Given the description of an element on the screen output the (x, y) to click on. 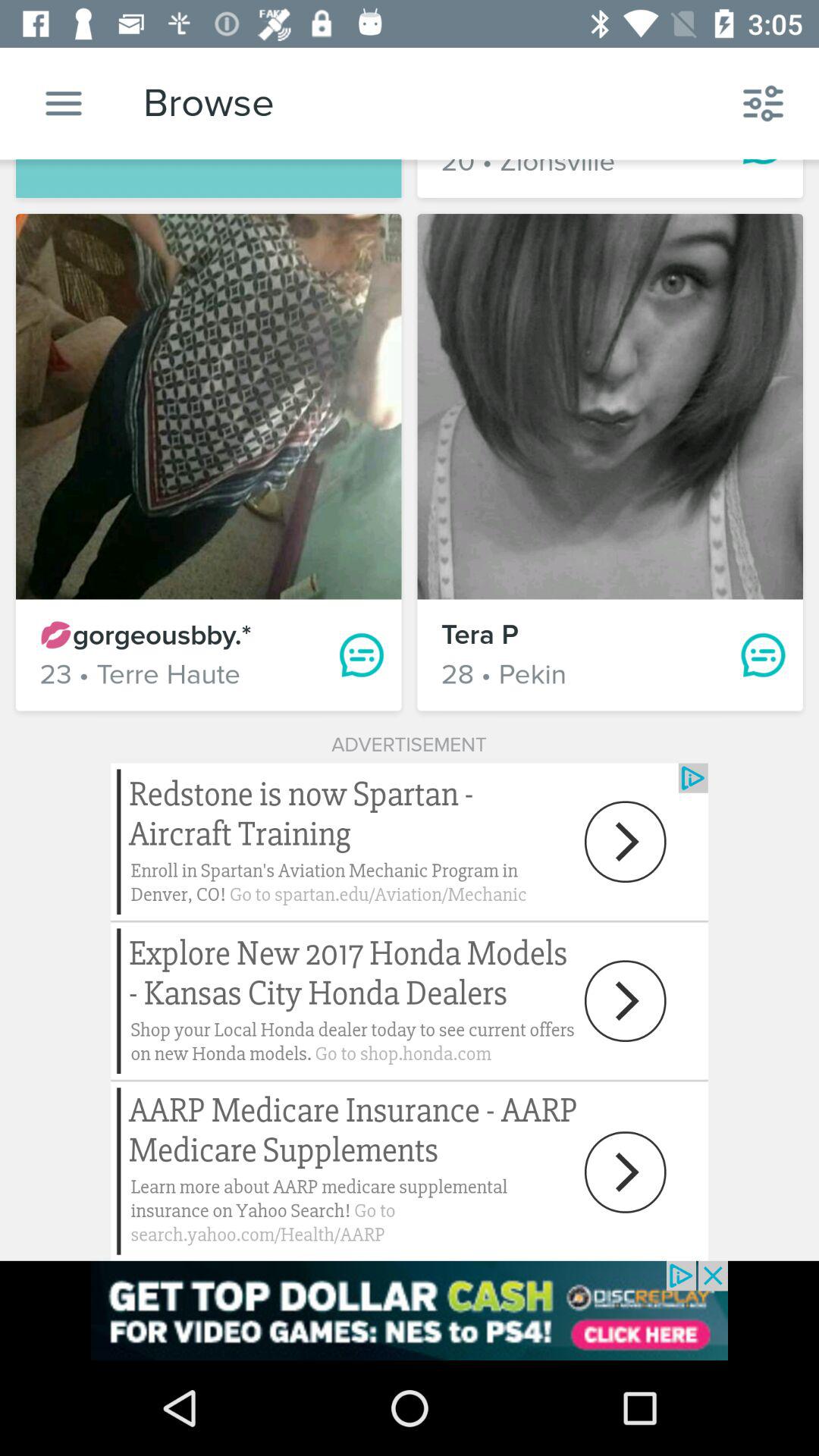
settings option (63, 103)
